Given the description of an element on the screen output the (x, y) to click on. 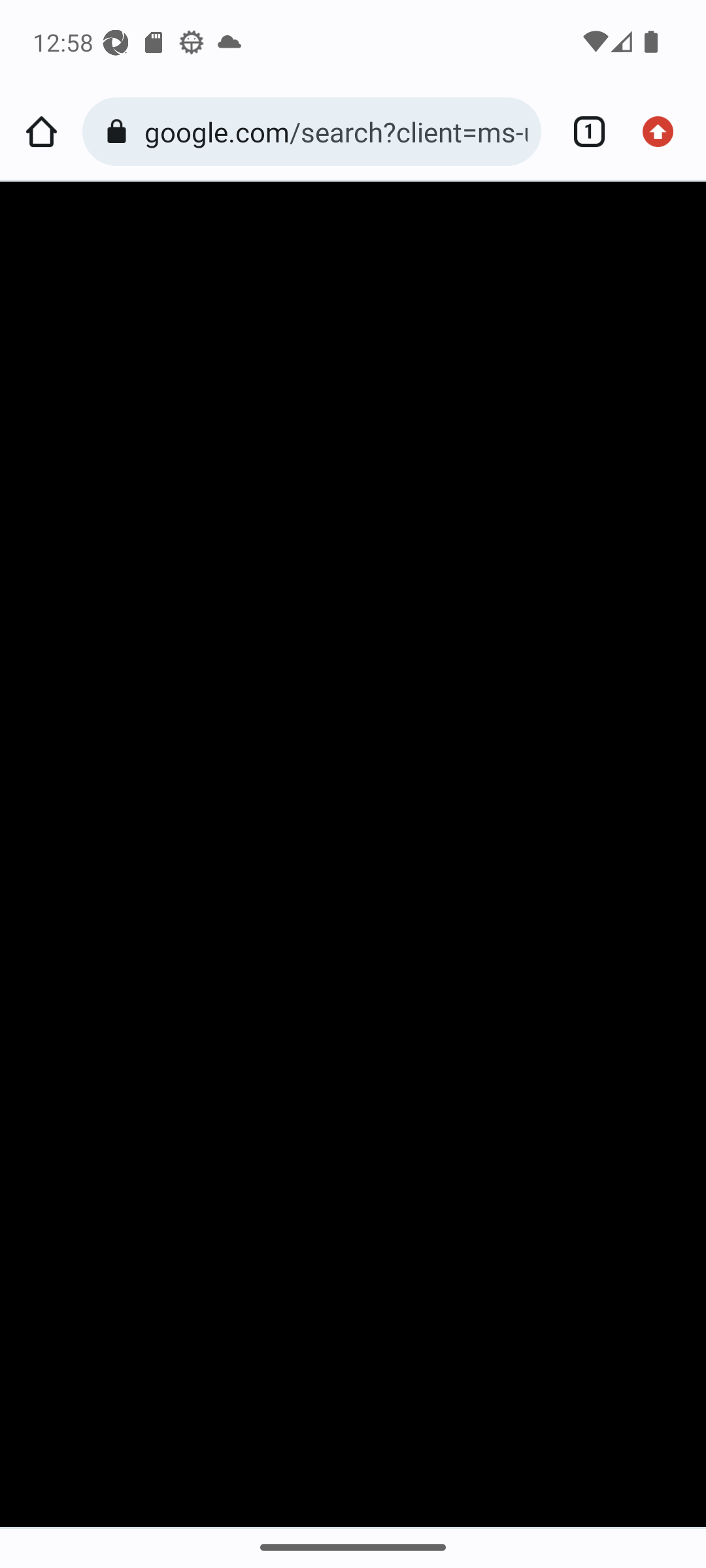
Home (41, 131)
Connection is secure (120, 131)
Switch or close tabs (582, 131)
Update available. More options (664, 131)
